Given the description of an element on the screen output the (x, y) to click on. 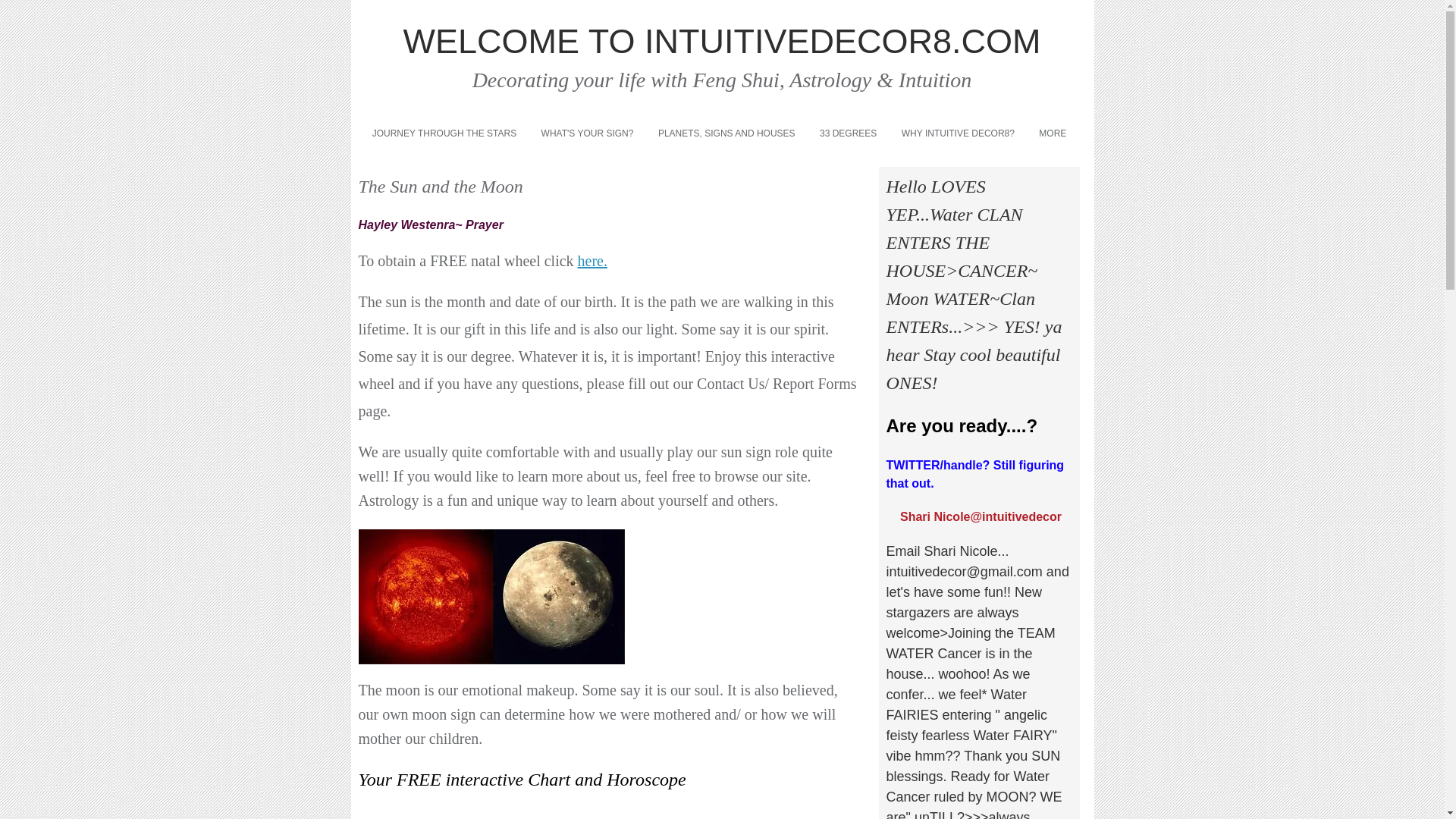
33 DEGREES (848, 133)
PLANETS, SIGNS AND HOUSES (727, 133)
WHY INTUITIVE DECOR8? (958, 133)
JOURNEY THROUGH THE STARS (443, 133)
here. (592, 263)
WHAT'S YOUR SIGN? (586, 133)
